Given the description of an element on the screen output the (x, y) to click on. 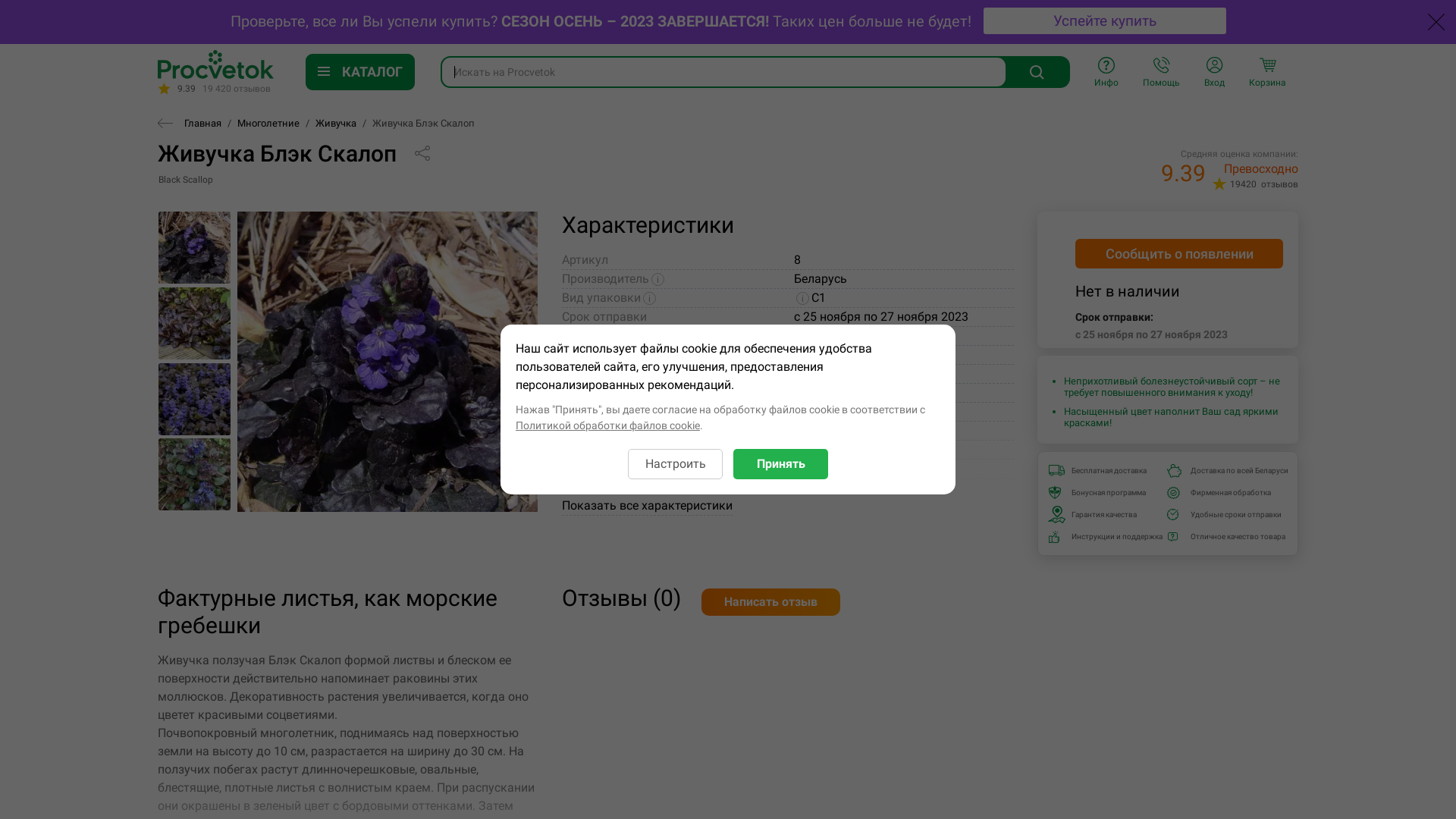
  Element type: text (164, 123)
